Given the description of an element on the screen output the (x, y) to click on. 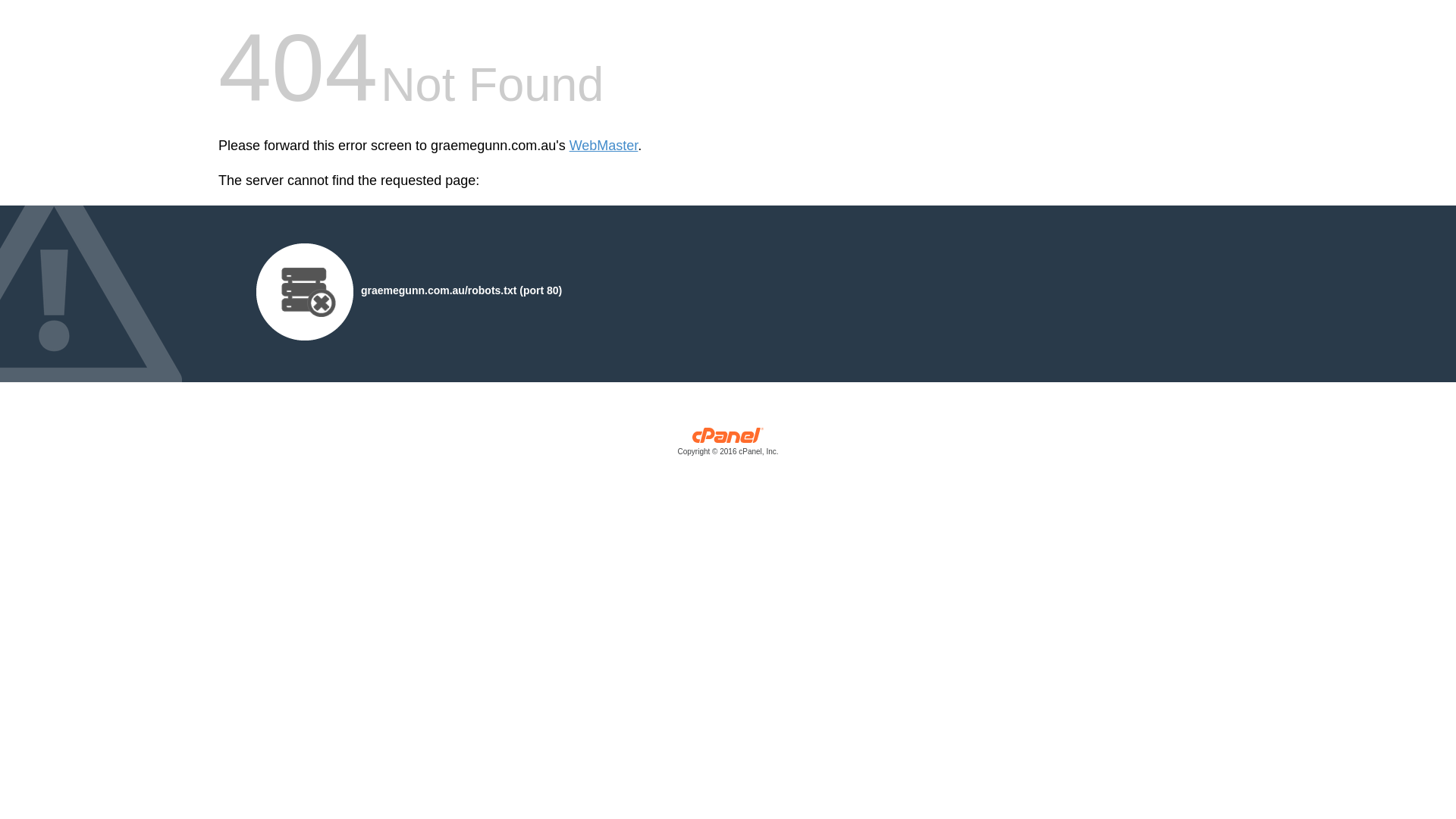
WebMaster Element type: text (603, 145)
